Given the description of an element on the screen output the (x, y) to click on. 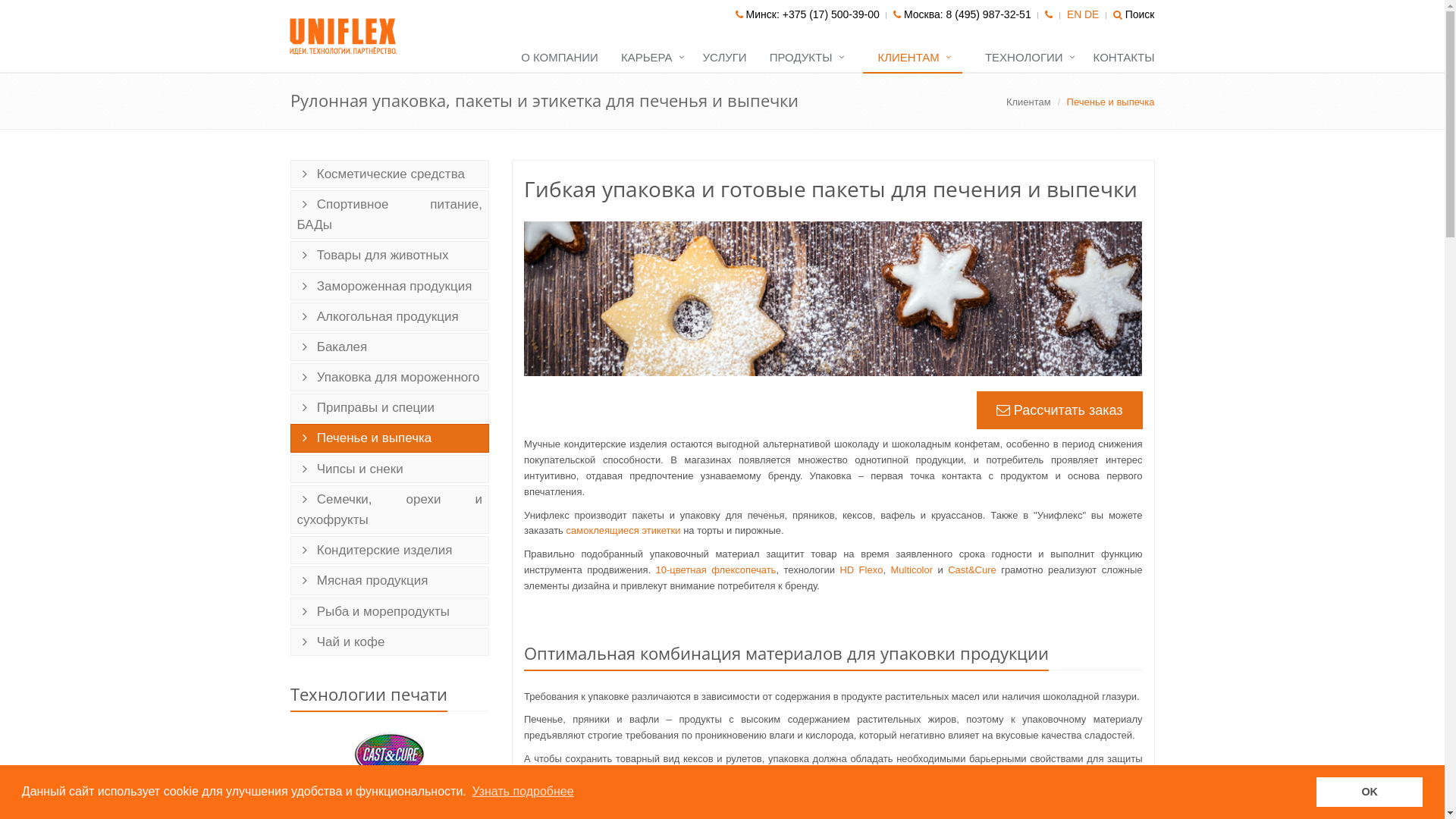
EN Element type: text (1073, 14)
OK Element type: text (1369, 791)
Multicolor Element type: text (911, 569)
8 (495) 987-32-51 Element type: text (988, 14)
HD Flexo Element type: text (860, 569)
Home Element type: hover (343, 36)
+375 (17) 500-39-00 Element type: text (830, 14)
Cast&Cure Element type: text (971, 569)
DE Element type: text (1091, 14)
